Given the description of an element on the screen output the (x, y) to click on. 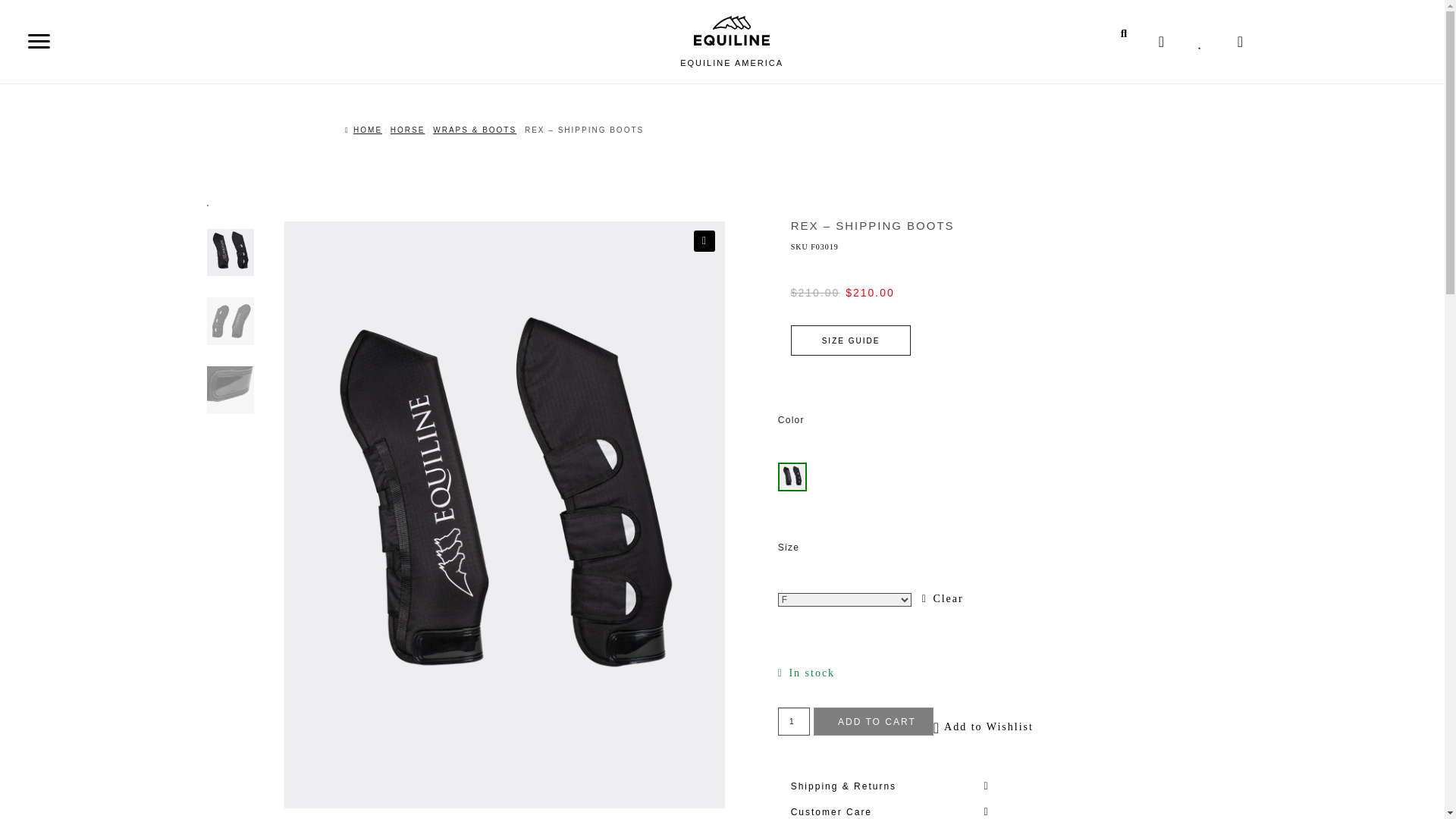
Black (792, 476)
1 (793, 721)
